Given the description of an element on the screen output the (x, y) to click on. 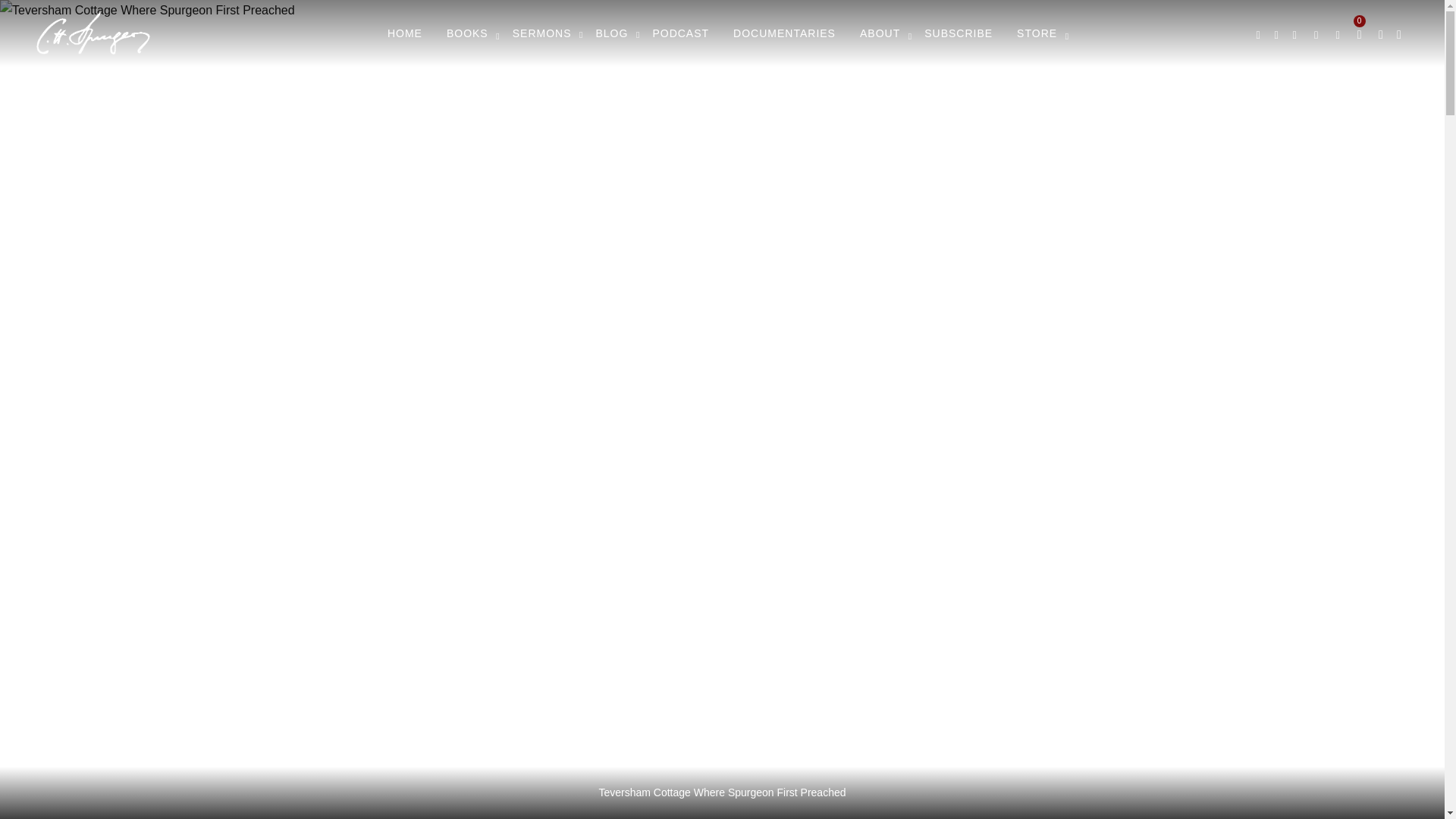
BOOKS (466, 33)
SUBSCRIBE (958, 33)
CHSpurgeon.com (92, 50)
STORE (1036, 33)
DOCUMENTARIES (783, 33)
SERMONS (541, 33)
ABOUT (879, 33)
PODCAST (680, 33)
